Given the description of an element on the screen output the (x, y) to click on. 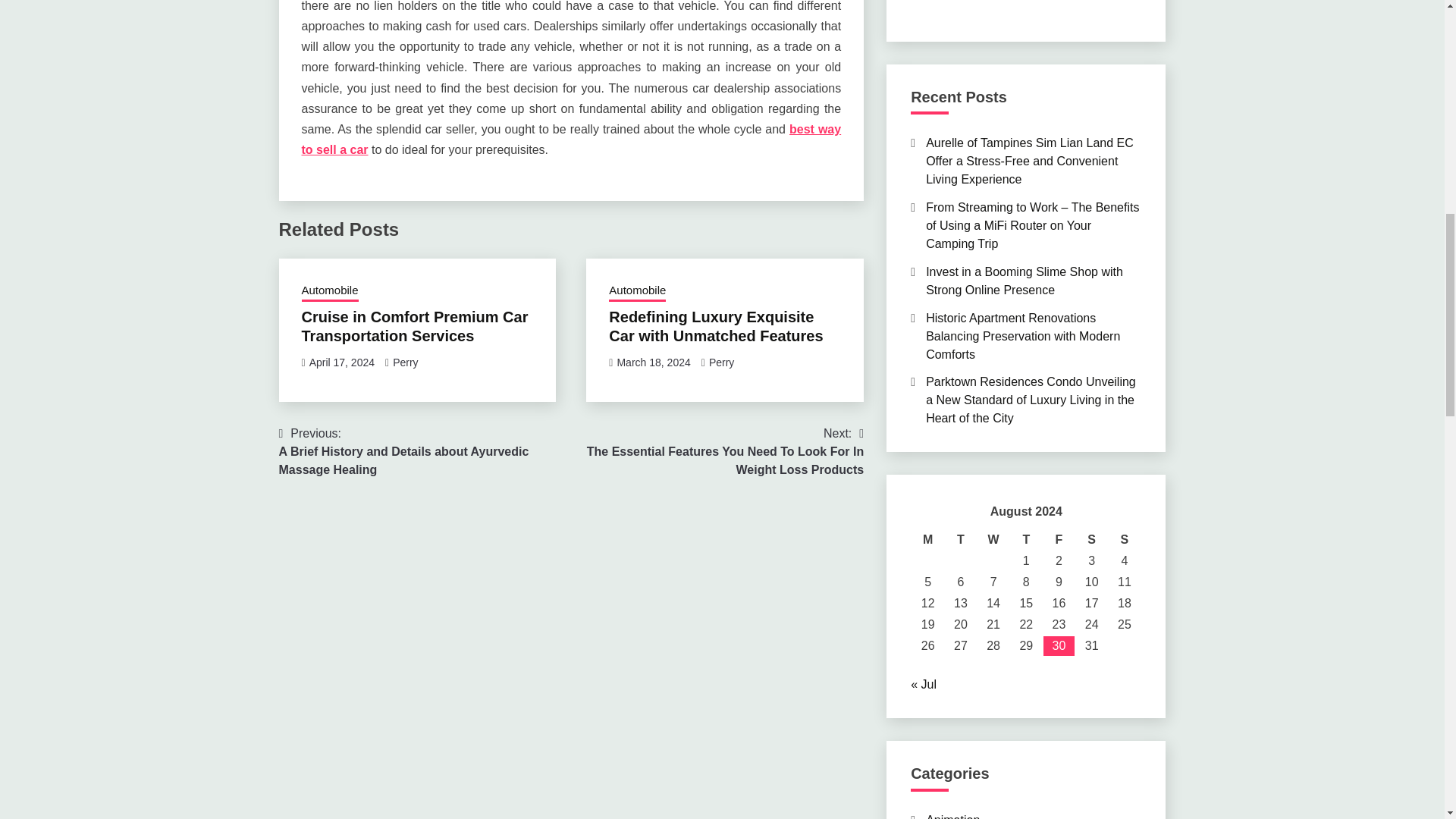
Animation (952, 816)
Saturday (1090, 539)
Redefining Luxury Exquisite Car with Unmatched Features (715, 325)
Automobile (636, 291)
Friday (1058, 539)
April 17, 2024 (341, 362)
best way to sell a car (571, 139)
Monday (927, 539)
Perry (721, 362)
